Given the description of an element on the screen output the (x, y) to click on. 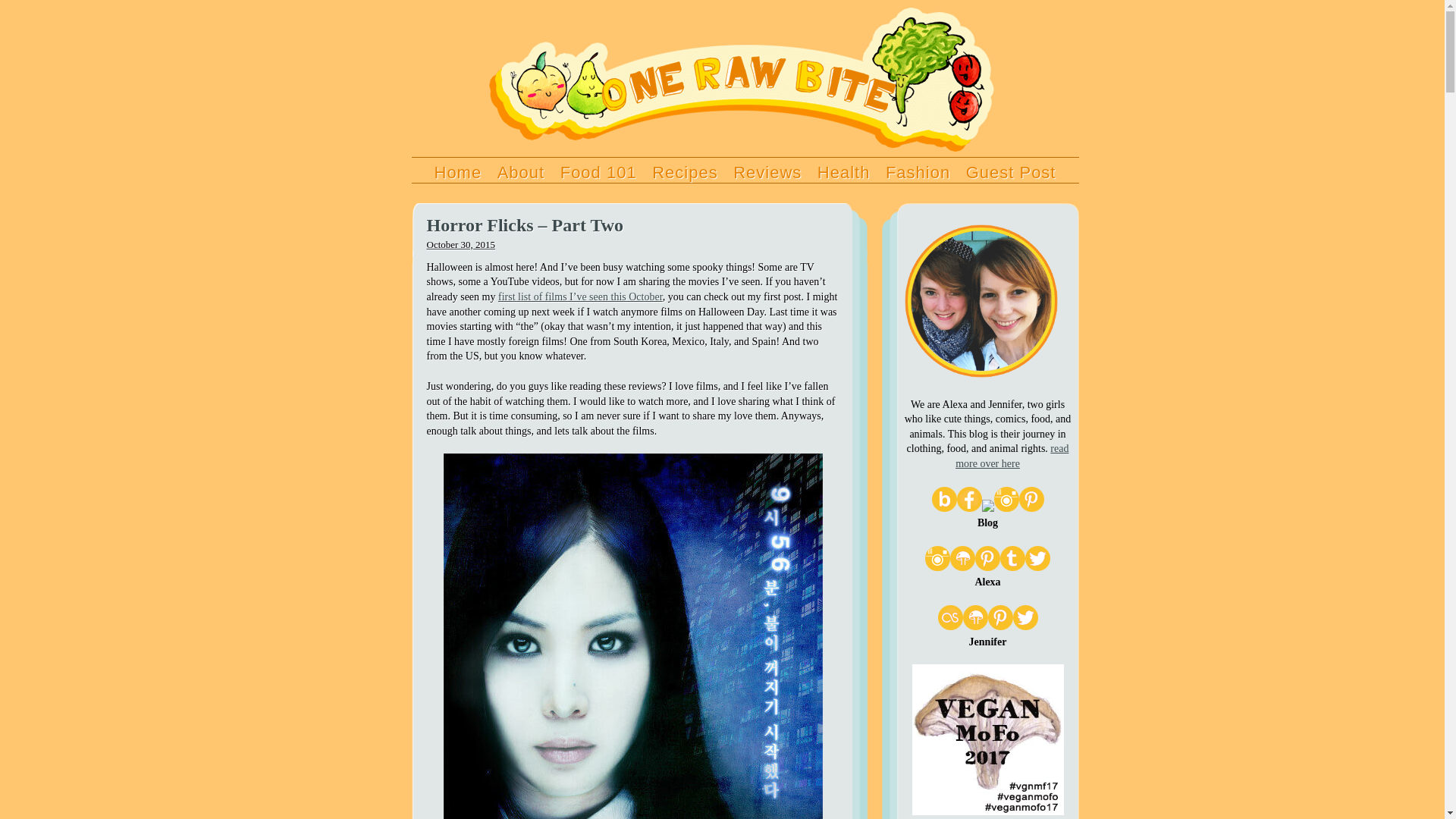
Recipes (683, 171)
Guest Post (1010, 171)
Health (844, 171)
One Raw Bite (739, 138)
About (520, 171)
Fashion (917, 171)
October 30, 2015 (633, 244)
Food 101 (598, 171)
Reviews (767, 171)
Home (458, 171)
